Given the description of an element on the screen output the (x, y) to click on. 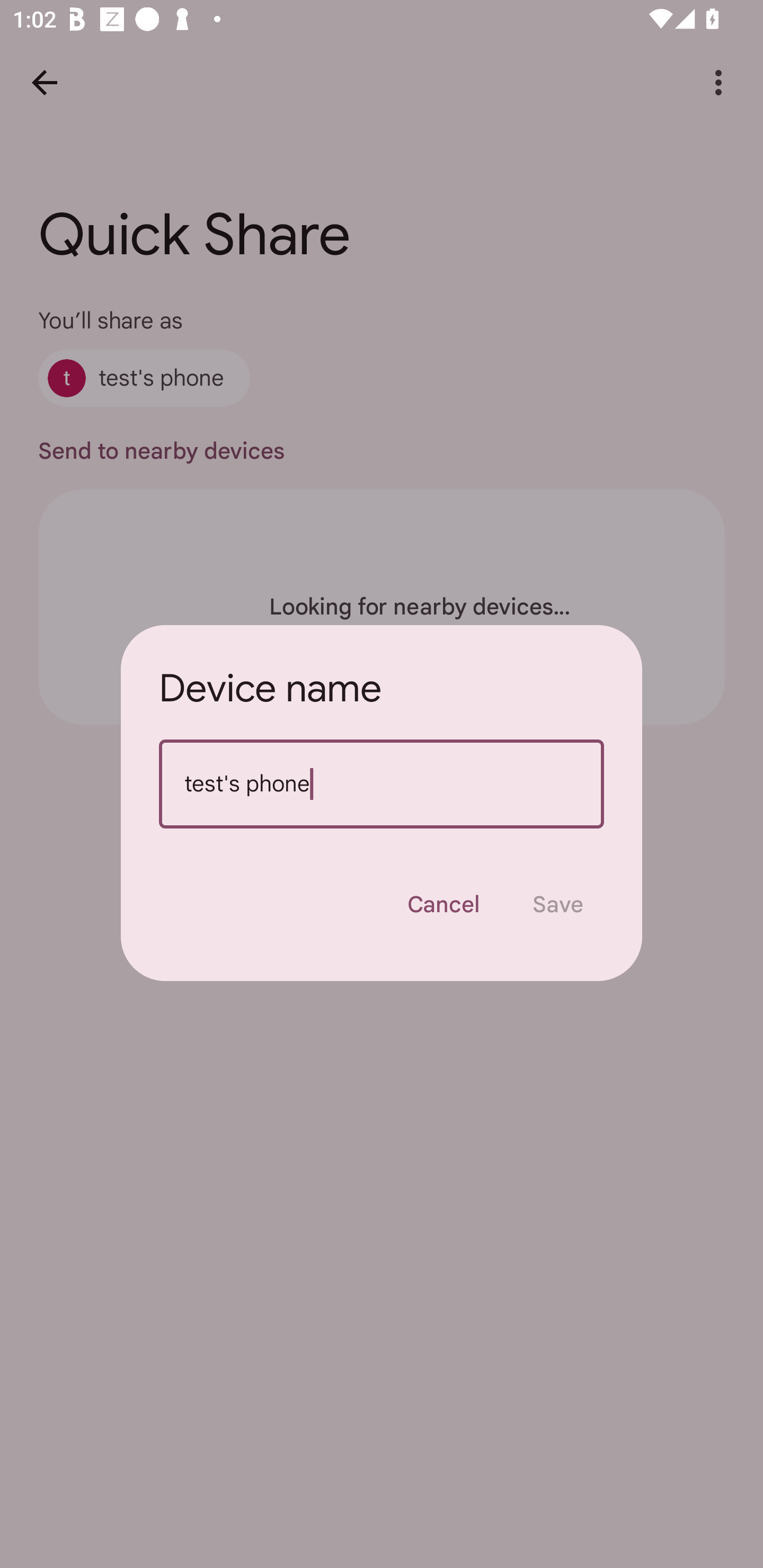
test's phone Device name (381, 783)
Cancel (443, 904)
Save (557, 904)
